Given the description of an element on the screen output the (x, y) to click on. 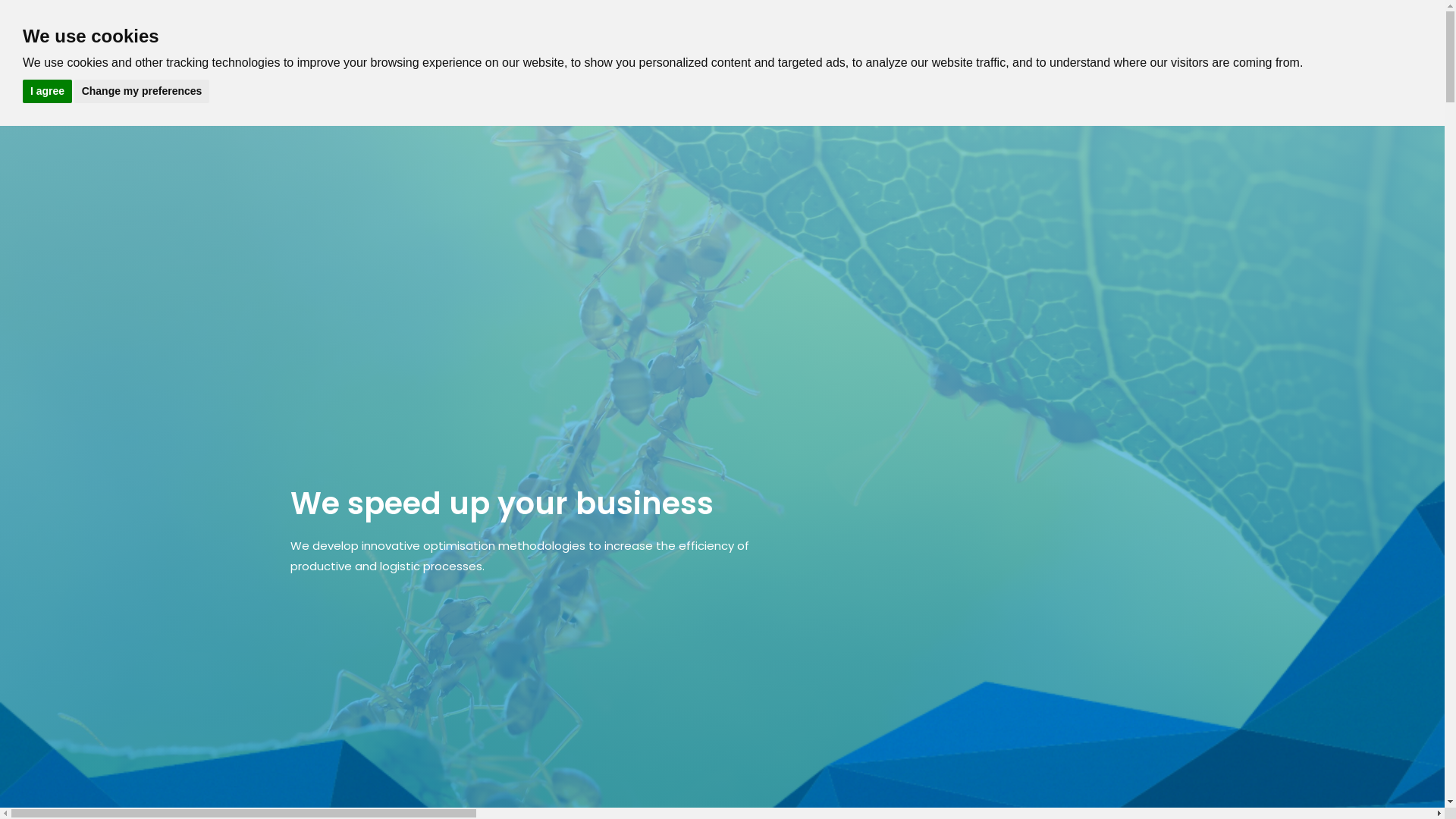
About us Element type: text (779, 31)
Contacts Element type: text (1089, 31)
Change my preferences Element type: text (142, 91)
Home Element type: text (713, 31)
I agree Element type: text (47, 91)
Solutions Element type: text (852, 31)
Press room Element type: text (1007, 31)
Products Element type: text (926, 31)
